Given the description of an element on the screen output the (x, y) to click on. 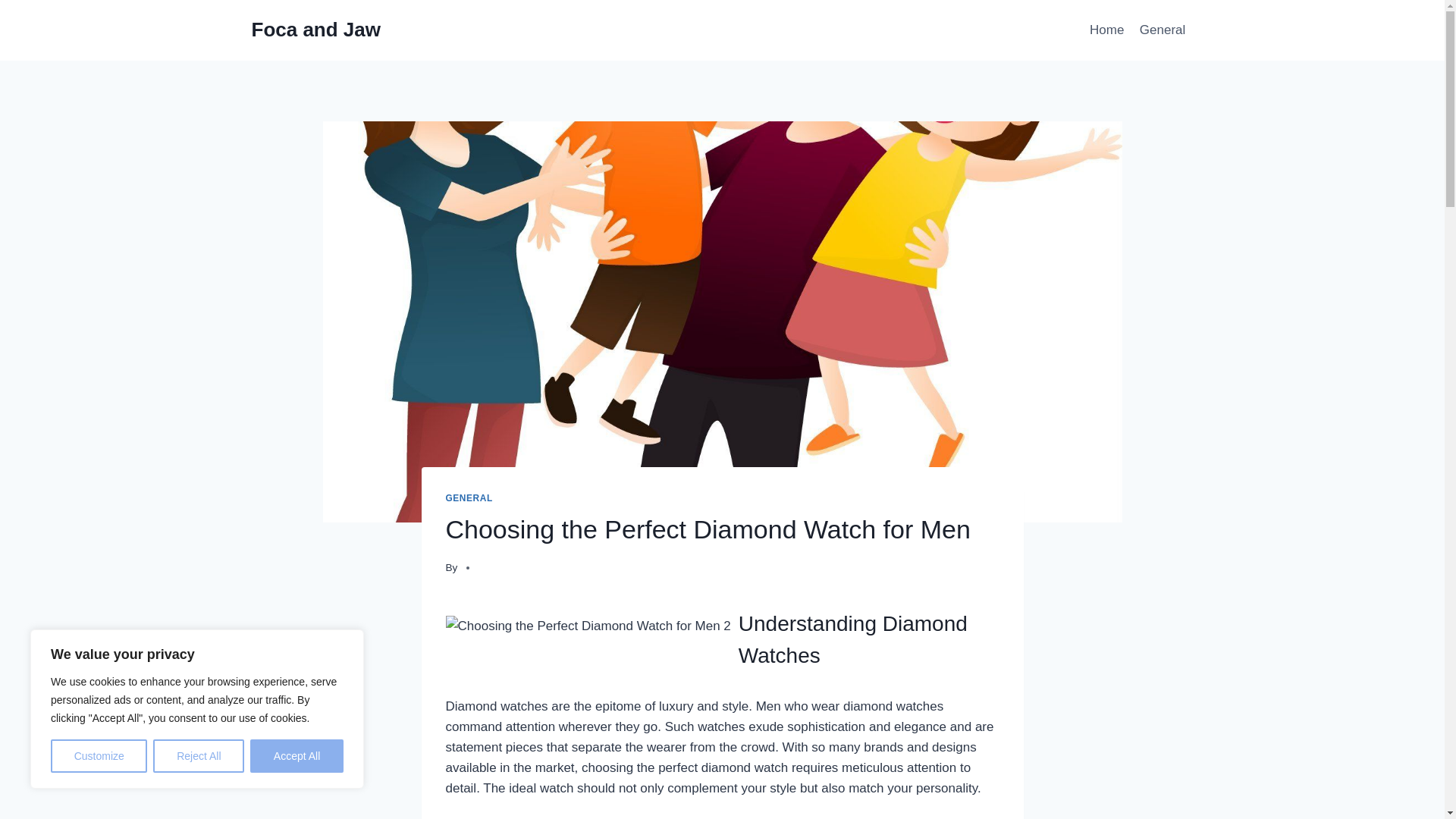
Foca and Jaw (316, 29)
General (1162, 30)
Home (1106, 30)
Accept All (296, 756)
Customize (98, 756)
GENERAL (469, 498)
Reject All (198, 756)
